Given the description of an element on the screen output the (x, y) to click on. 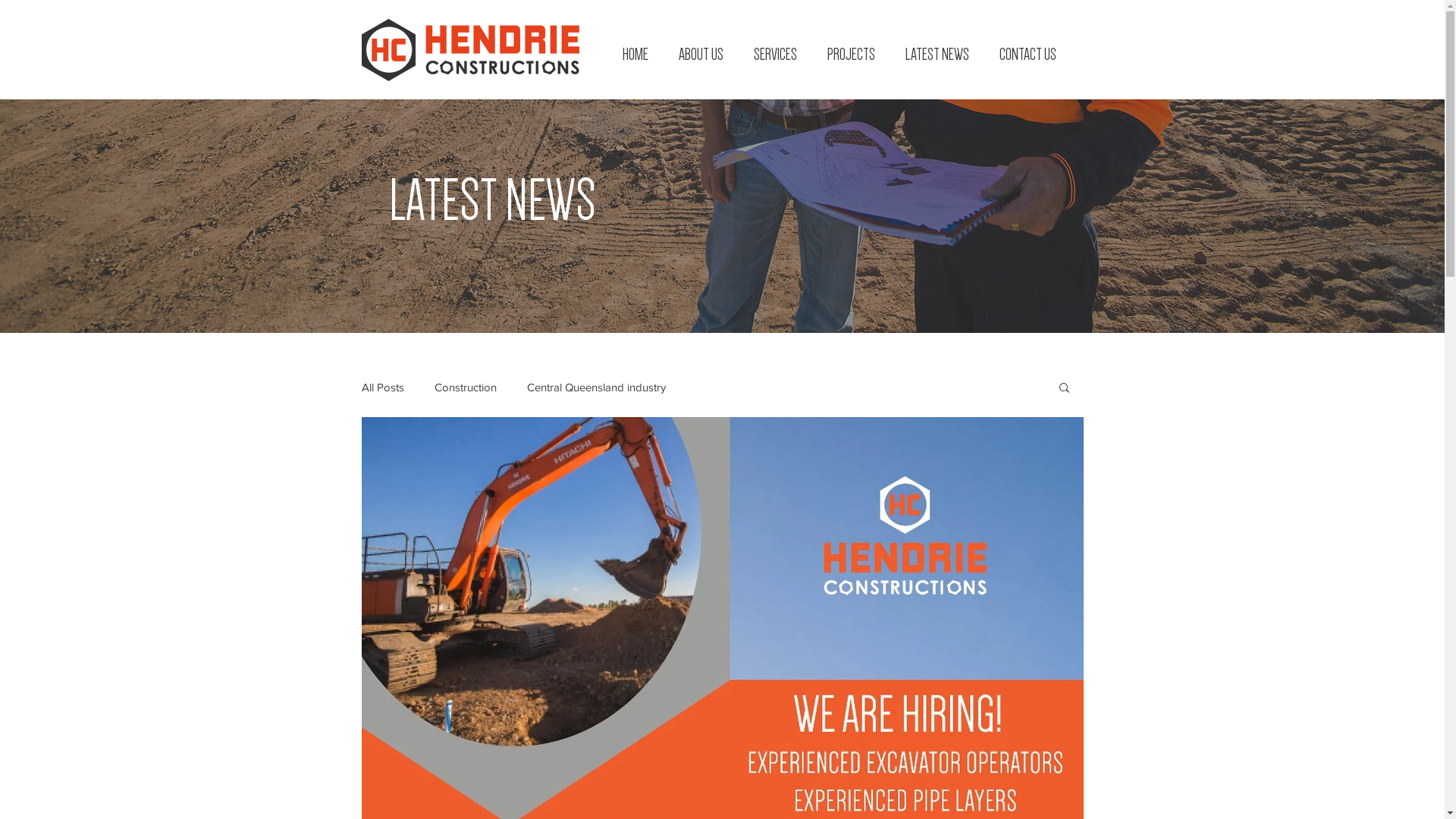
LATEST NEWS Element type: text (937, 53)
ABOUT US Element type: text (699, 53)
HOME Element type: text (634, 53)
Construction Element type: text (464, 386)
SERVICES Element type: text (775, 53)
Central Queensland industry Element type: text (595, 386)
PROJECTS Element type: text (850, 53)
CONTACT US Element type: text (1027, 53)
All Posts Element type: text (381, 386)
